Given the description of an element on the screen output the (x, y) to click on. 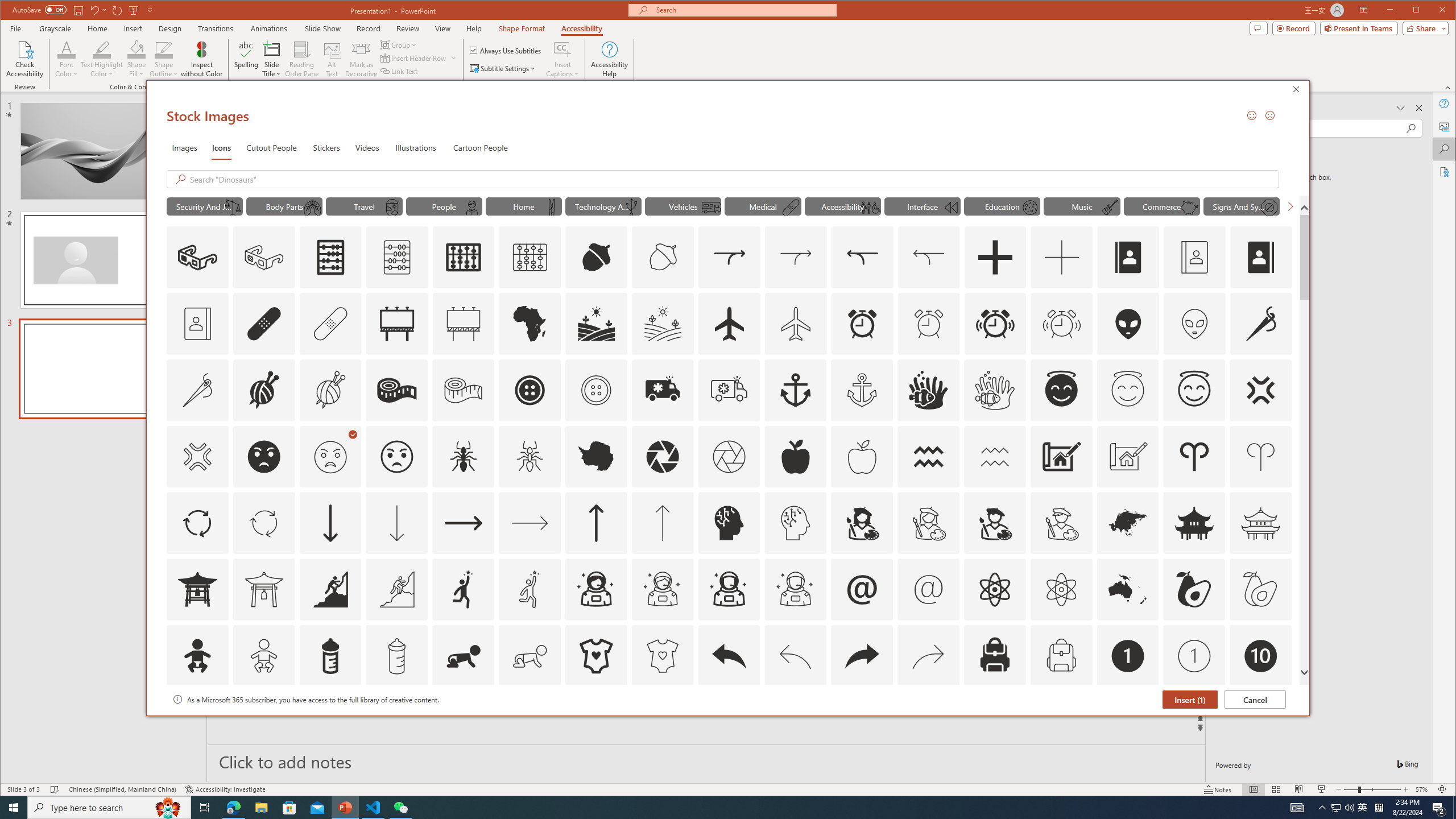
AutomationID: Icons_Back_LTR_M (795, 655)
Microsoft Edge - 1 running window (233, 807)
"Technology And Electronics" Icons. (603, 206)
AutomationID: Icons_AngryFace_Outline (397, 456)
Icons (220, 147)
AutomationID: Icons_Aquarius (928, 456)
